Given the description of an element on the screen output the (x, y) to click on. 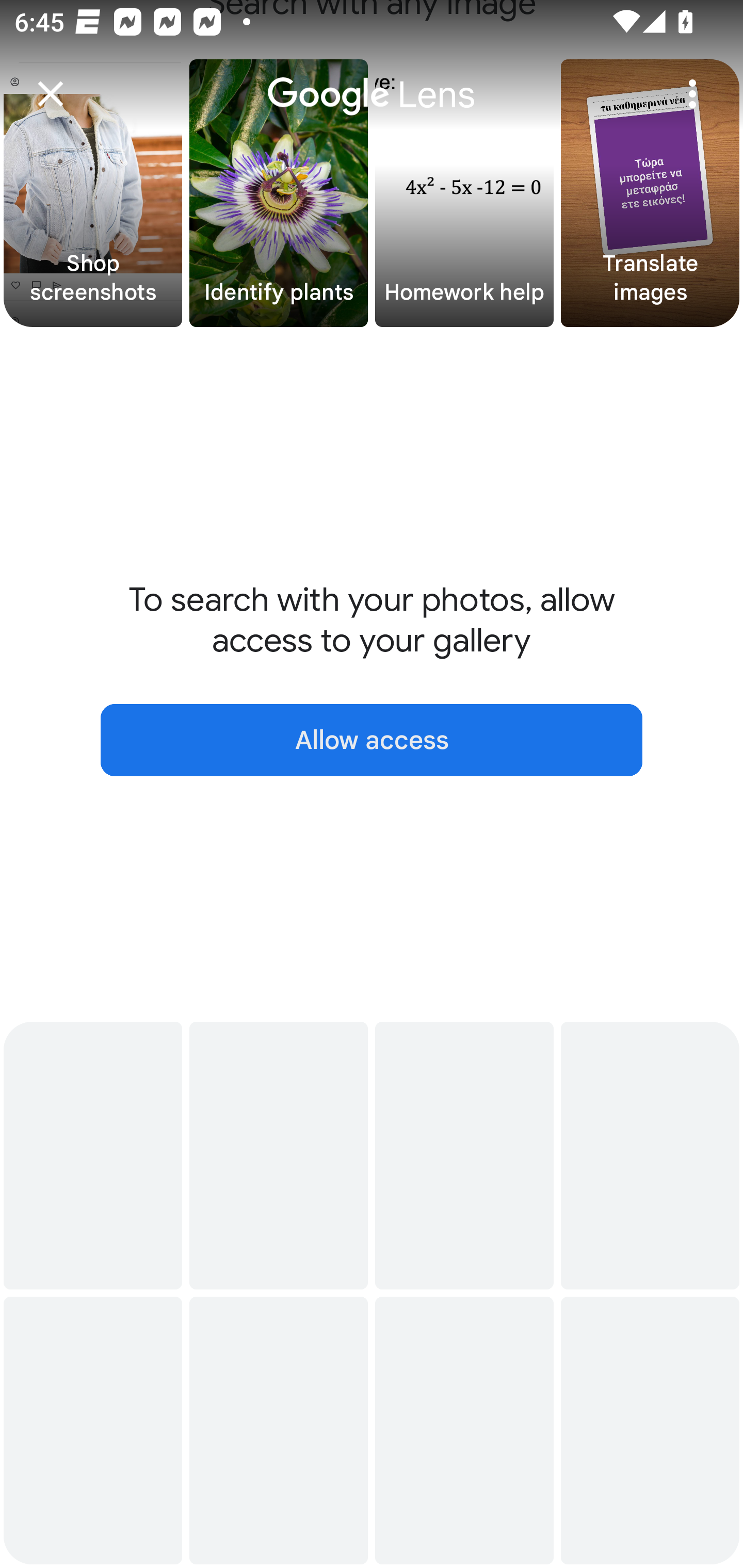
Close (50, 94)
More options (692, 94)
Shop screenshots (92, 193)
Identify plants (278, 193)
Homework help (464, 193)
Translate images (649, 193)
Allow access (371, 740)
